Given the description of an element on the screen output the (x, y) to click on. 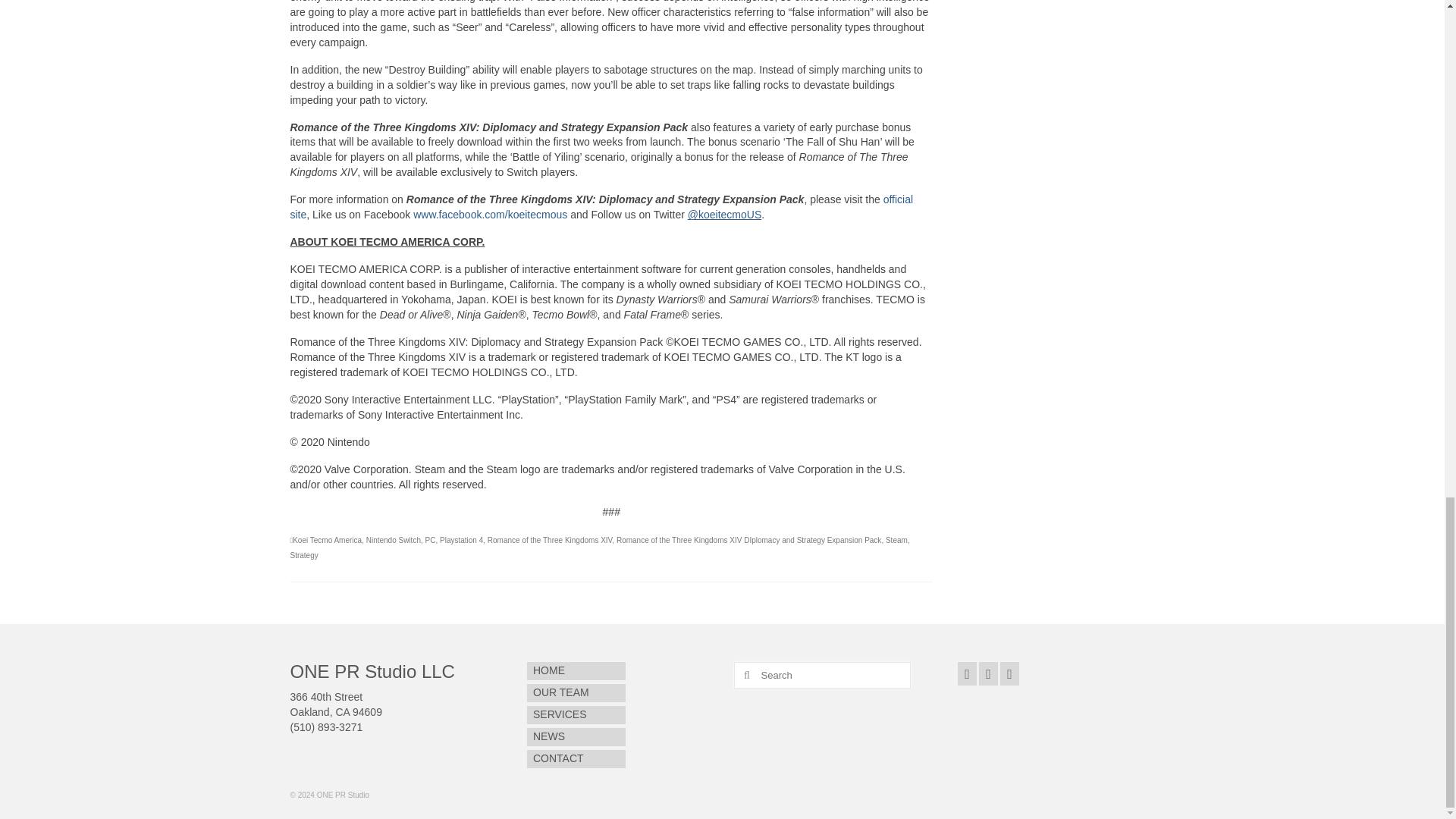
Romance of the Three Kingdoms XIV (549, 540)
Playstation 4 (461, 540)
Steam (896, 540)
official site (600, 206)
Strategy (303, 555)
PC (430, 540)
Koei Tecmo America (326, 540)
Nintendo Switch (393, 540)
